Given the description of an element on the screen output the (x, y) to click on. 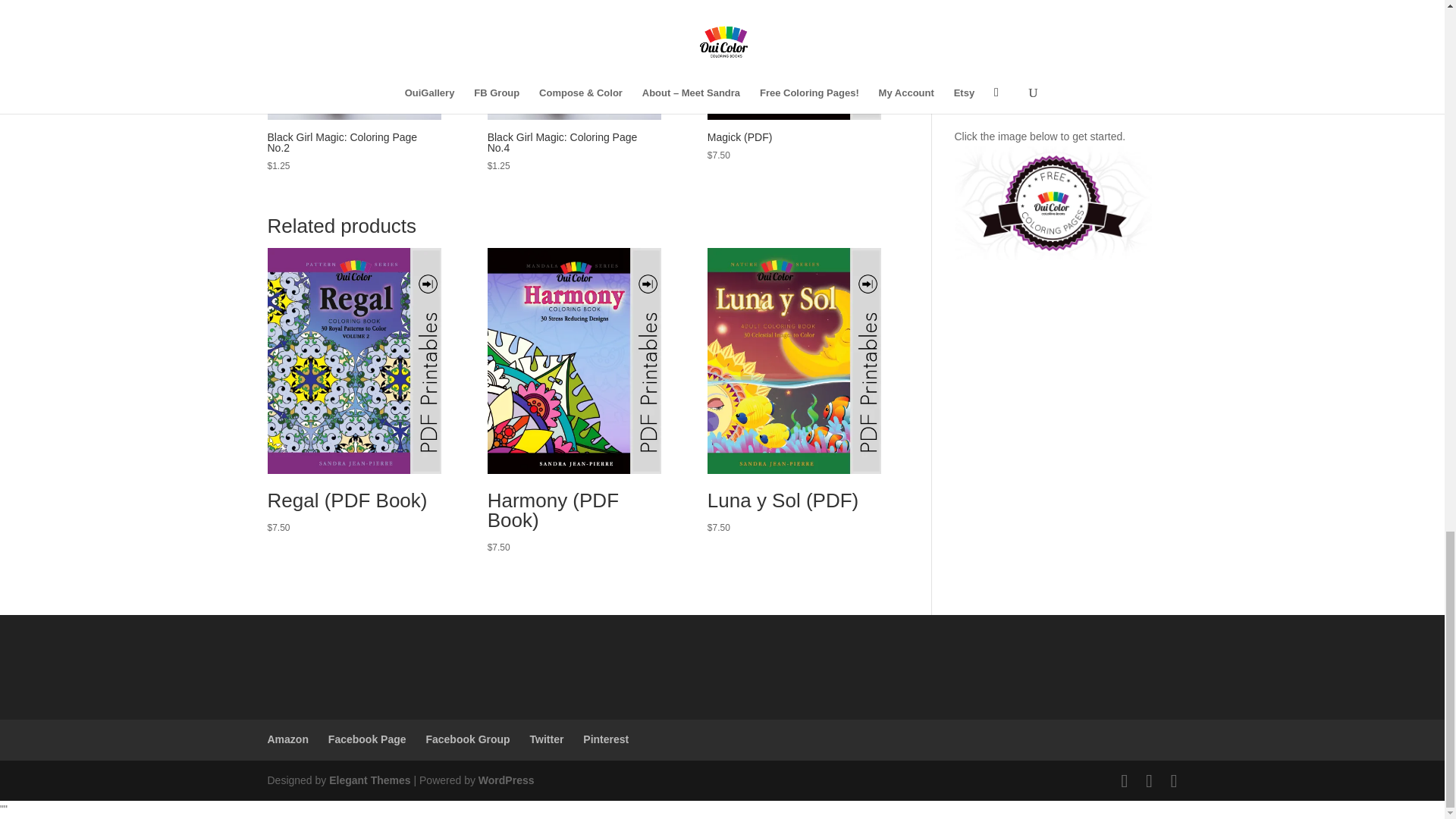
Premium WordPress Themes (369, 779)
